Given the description of an element on the screen output the (x, y) to click on. 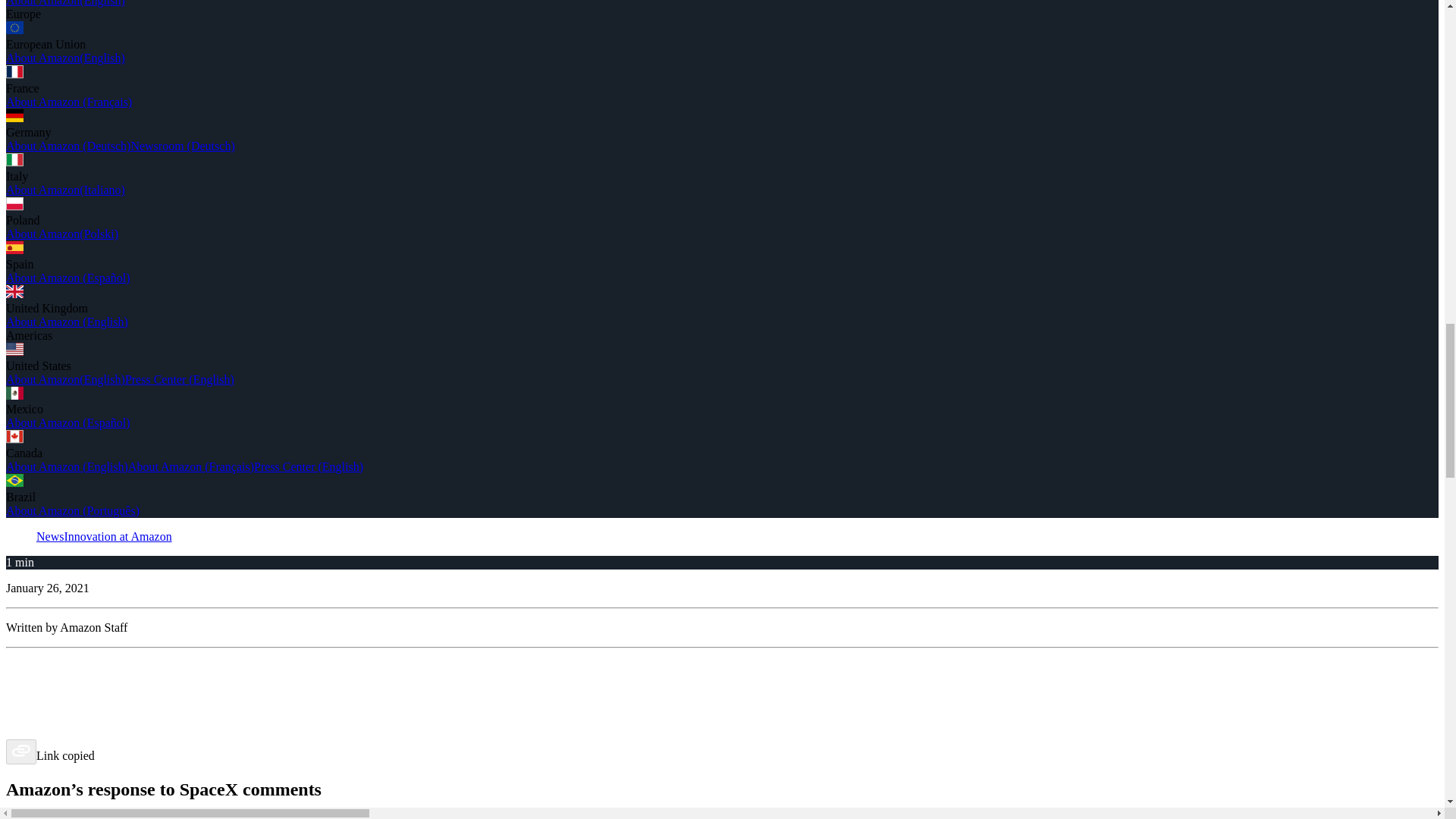
LinkedIn Share (721, 707)
copy link (20, 751)
Twitter Share (721, 685)
Facebook Share (721, 664)
email (721, 728)
